Given the description of an element on the screen output the (x, y) to click on. 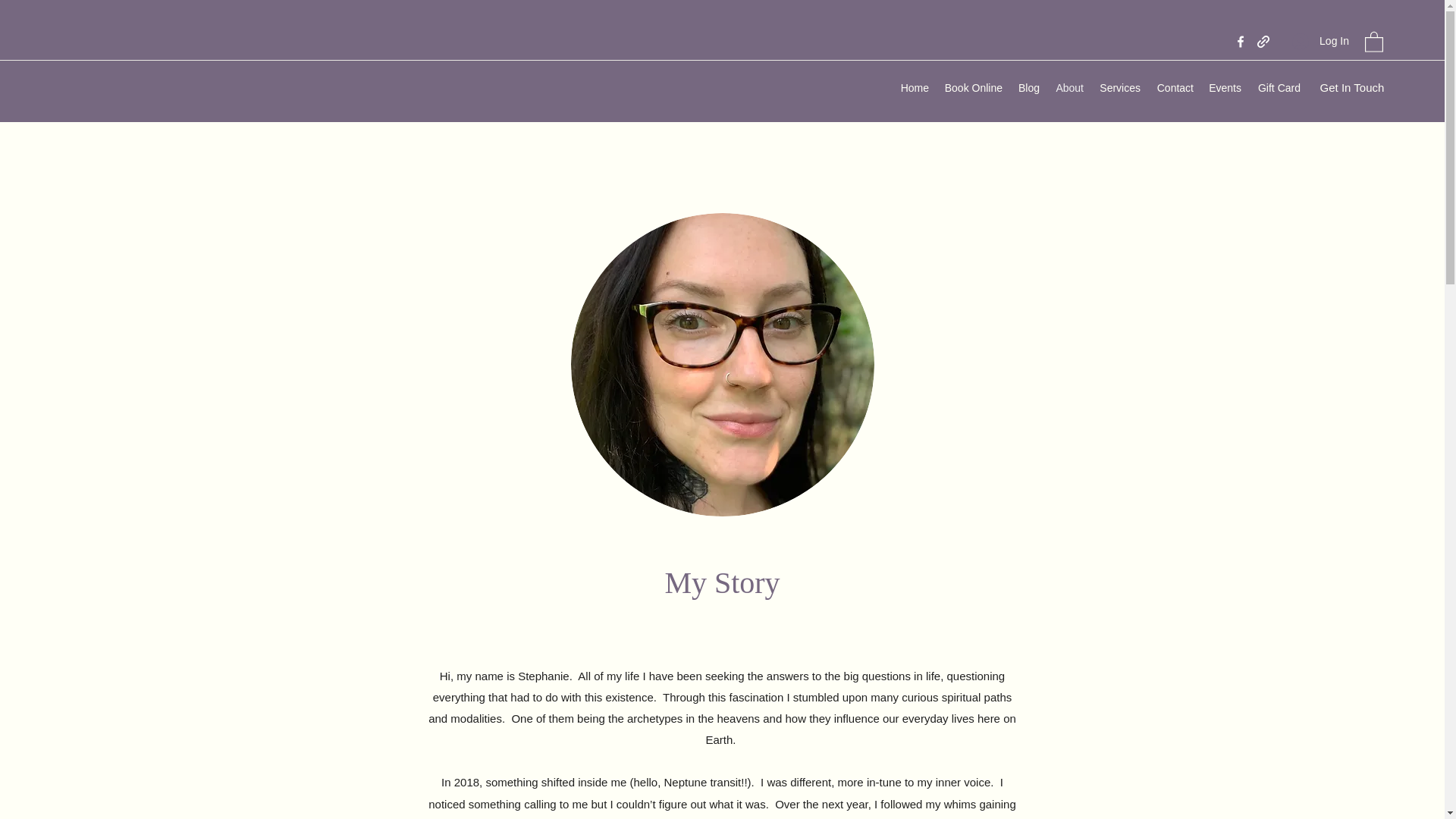
Blog (1028, 87)
Book Online (973, 87)
Events (1225, 87)
Get In Touch (1351, 87)
Log In (1320, 41)
Home (914, 87)
Contact (1174, 87)
Services (1119, 87)
About (1068, 87)
Gift Card (1278, 87)
